Given the description of an element on the screen output the (x, y) to click on. 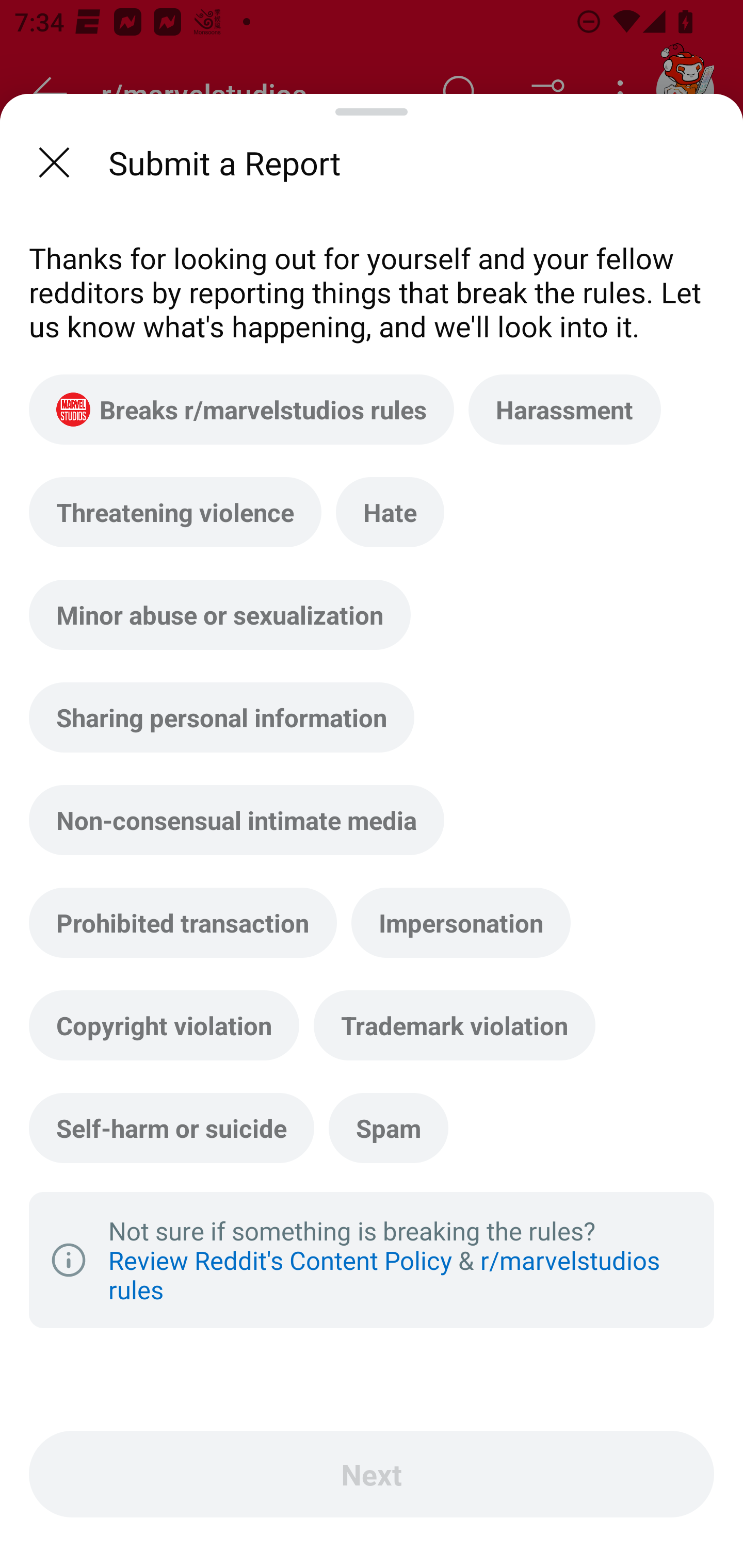
Close (53, 162)
Harassment (564, 409)
Threatening violence (174, 511)
Hate (389, 511)
Minor abuse or sexualization (219, 614)
Sharing personal information (221, 717)
Non-consensual intimate media (236, 819)
Prohibited transaction (182, 922)
Impersonation (460, 922)
Copyright violation (163, 1024)
Trademark violation (454, 1024)
Self-harm or suicide (171, 1127)
Spam (388, 1127)
Next (371, 1473)
